Given the description of an element on the screen output the (x, y) to click on. 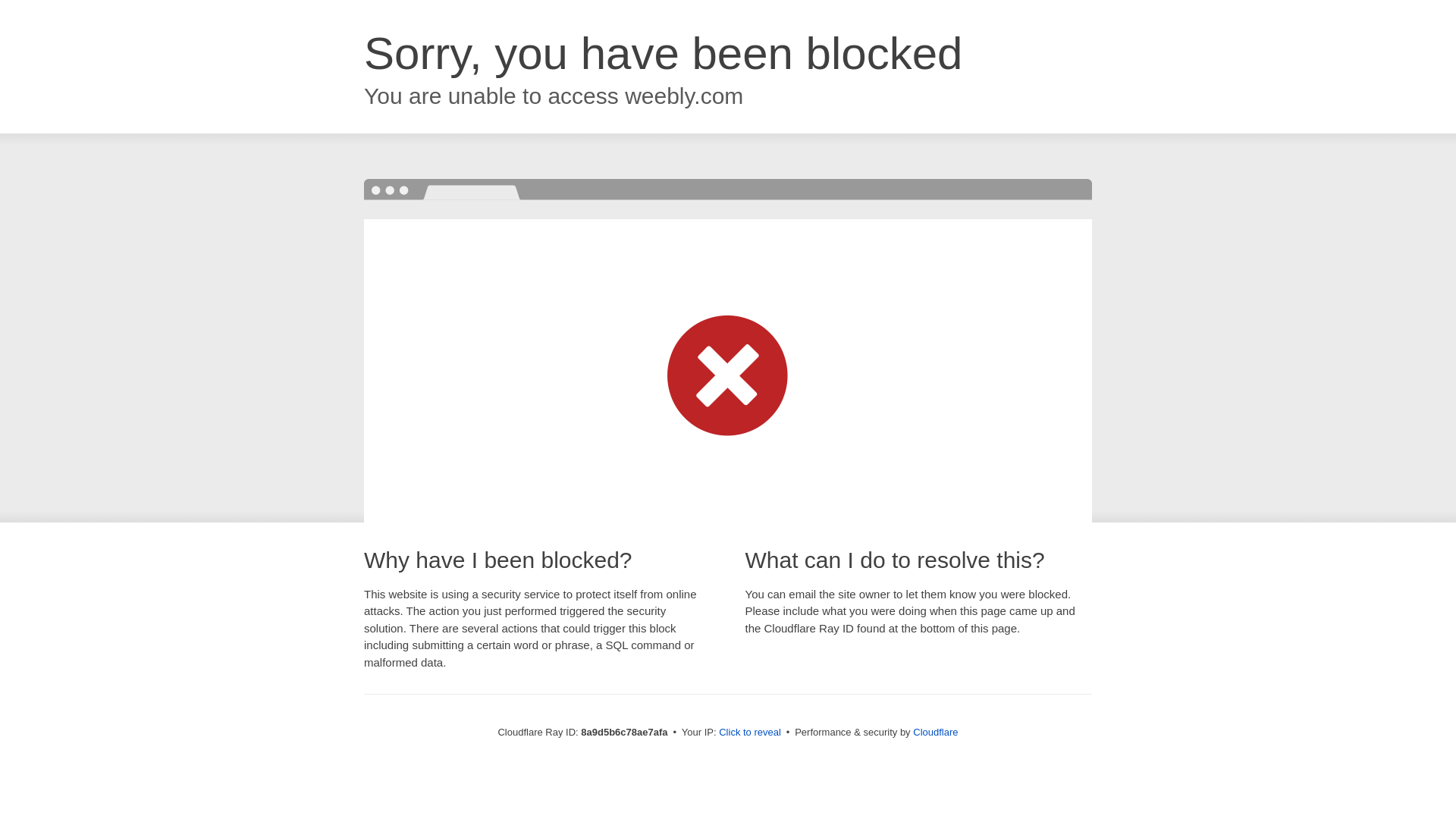
Click to reveal (749, 732)
Cloudflare (935, 731)
